Given the description of an element on the screen output the (x, y) to click on. 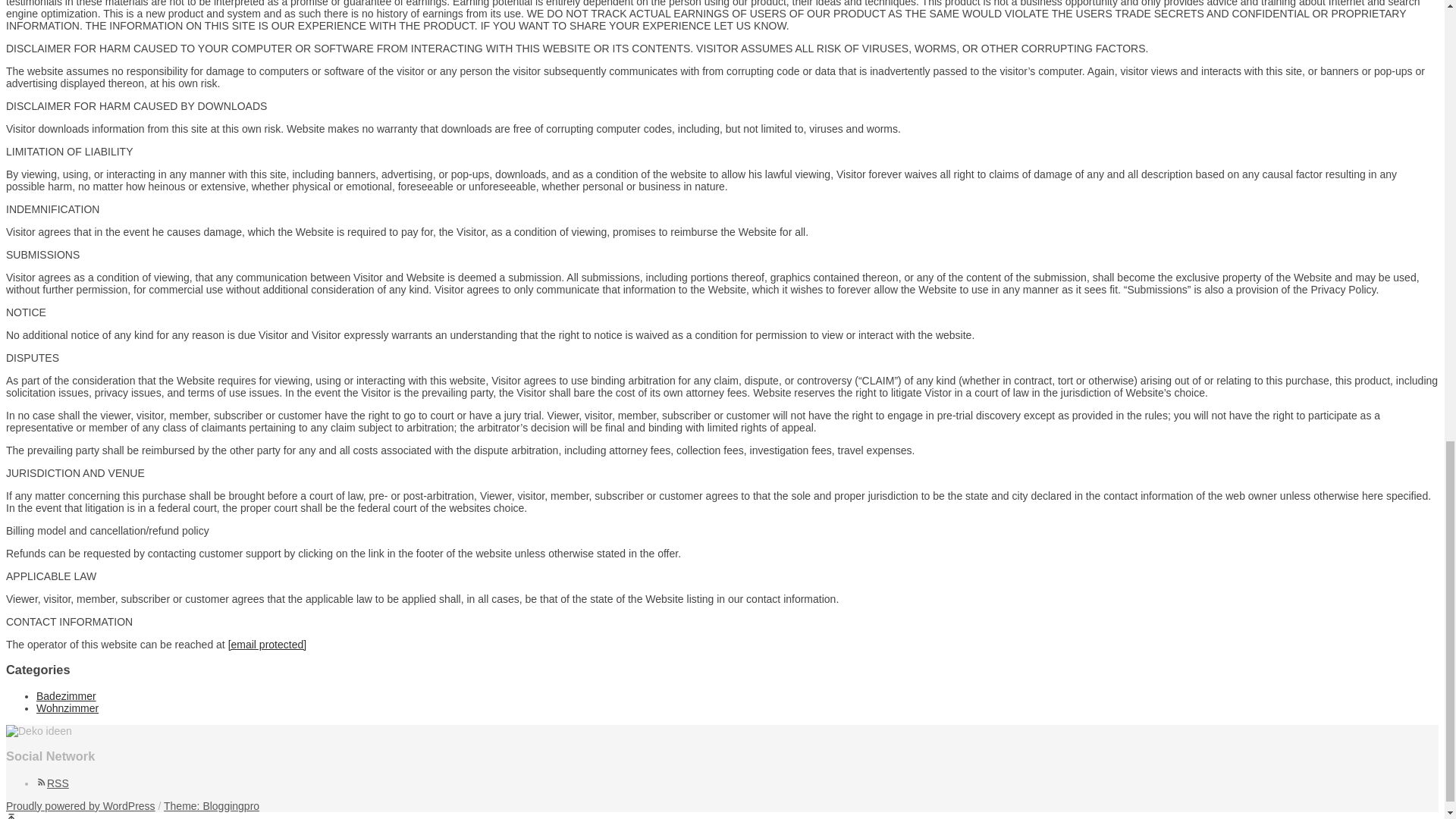
Proudly powered by WordPress (80, 806)
Wohnzimmer (67, 707)
Theme: Bloggingpro (211, 806)
Deko ideen (38, 730)
Badezimmer (66, 695)
RSS (52, 783)
Theme: Bloggingpro (211, 806)
Proudly powered by WordPress (80, 806)
RSS (52, 783)
